Given the description of an element on the screen output the (x, y) to click on. 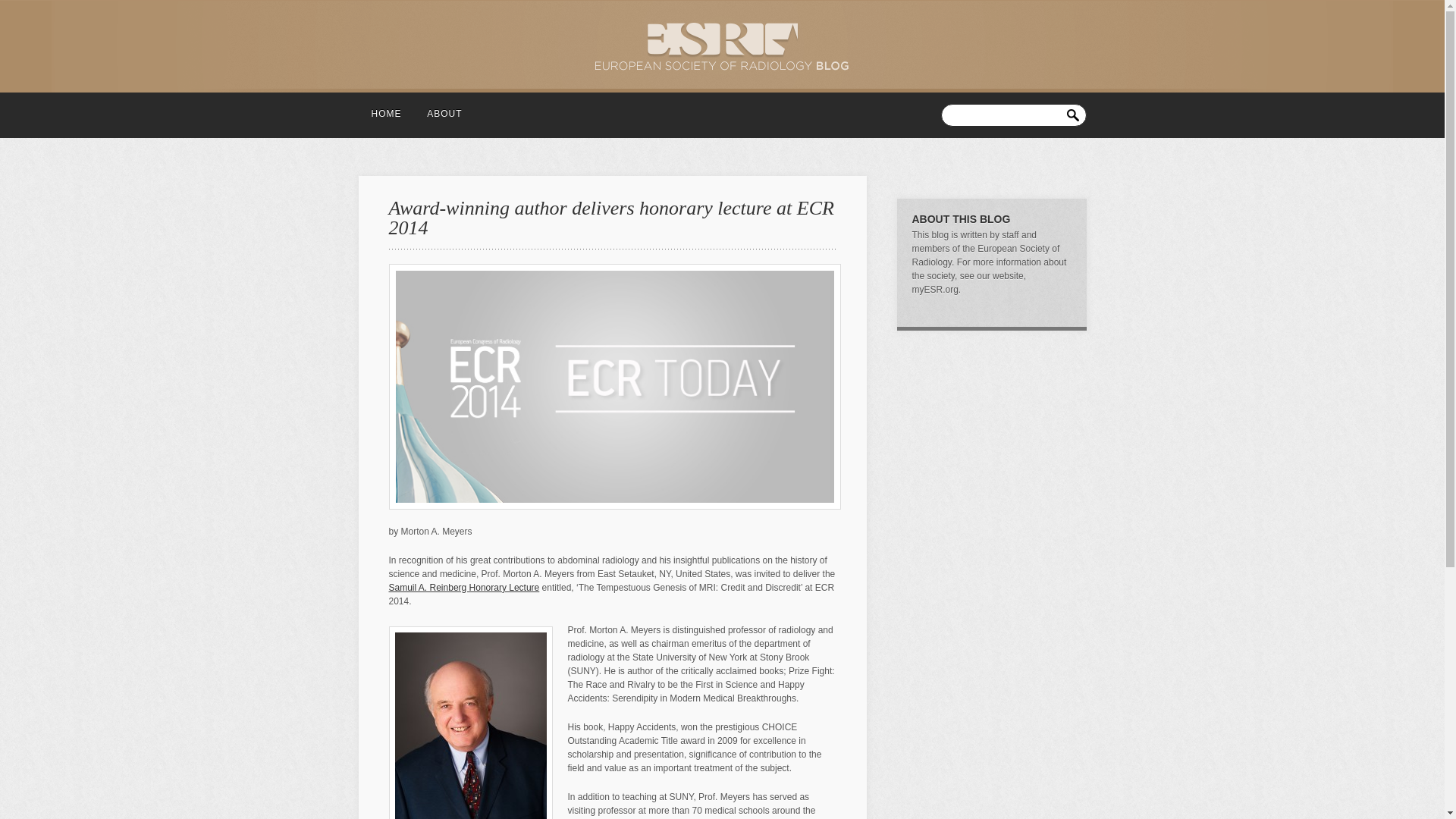
HOME (386, 109)
Search (1074, 112)
Award-winning author delivers honorary lecture at ECR 2014 (610, 218)
Samuil A. Reinberg Honorary Lecture (463, 587)
Watch via ECR On Demand (463, 587)
ABOUT (443, 109)
Search (1074, 112)
